Given the description of an element on the screen output the (x, y) to click on. 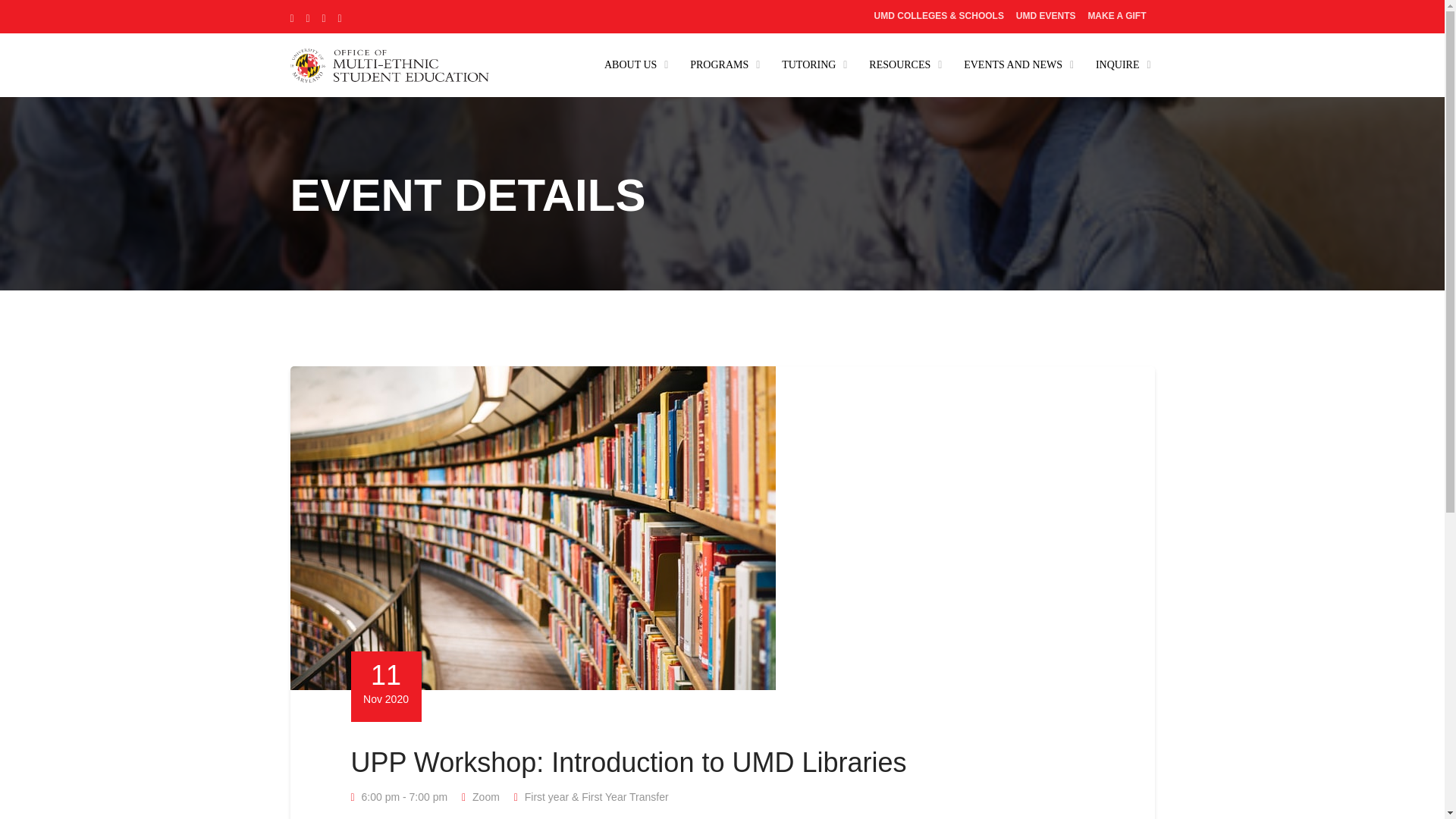
Logo (389, 65)
MAKE A GIFT (1116, 15)
EVENTS AND NEWS (1013, 65)
PROGRAMS (718, 65)
RESOURCES (898, 65)
TUTORING (808, 65)
ABOUT US (630, 65)
UMD EVENTS (1045, 15)
